Given the description of an element on the screen output the (x, y) to click on. 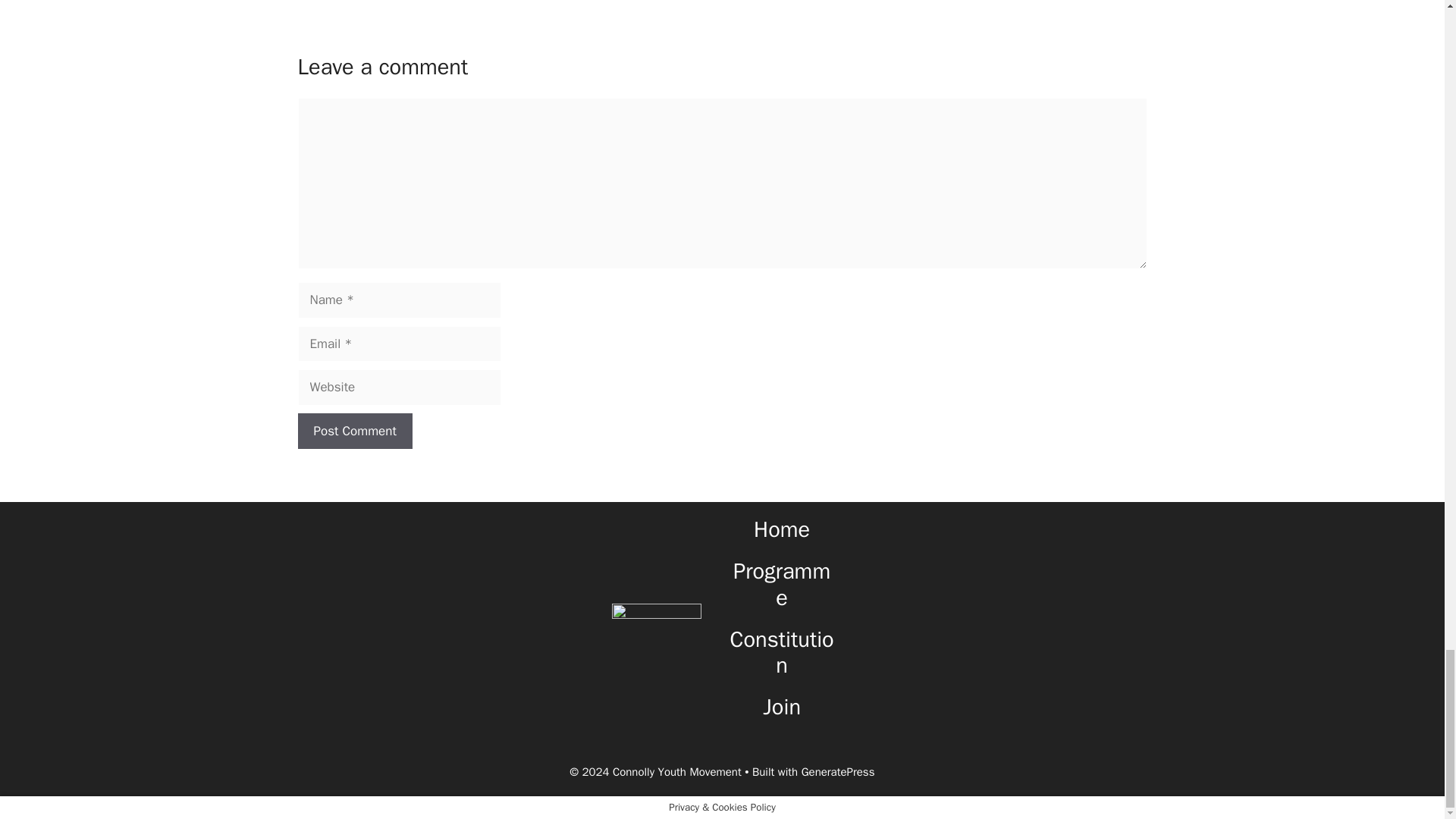
Post Comment (354, 431)
Programme (781, 584)
Post Comment (354, 431)
Constitution (782, 652)
GeneratePress (838, 771)
Home (781, 529)
Join (781, 706)
